Given the description of an element on the screen output the (x, y) to click on. 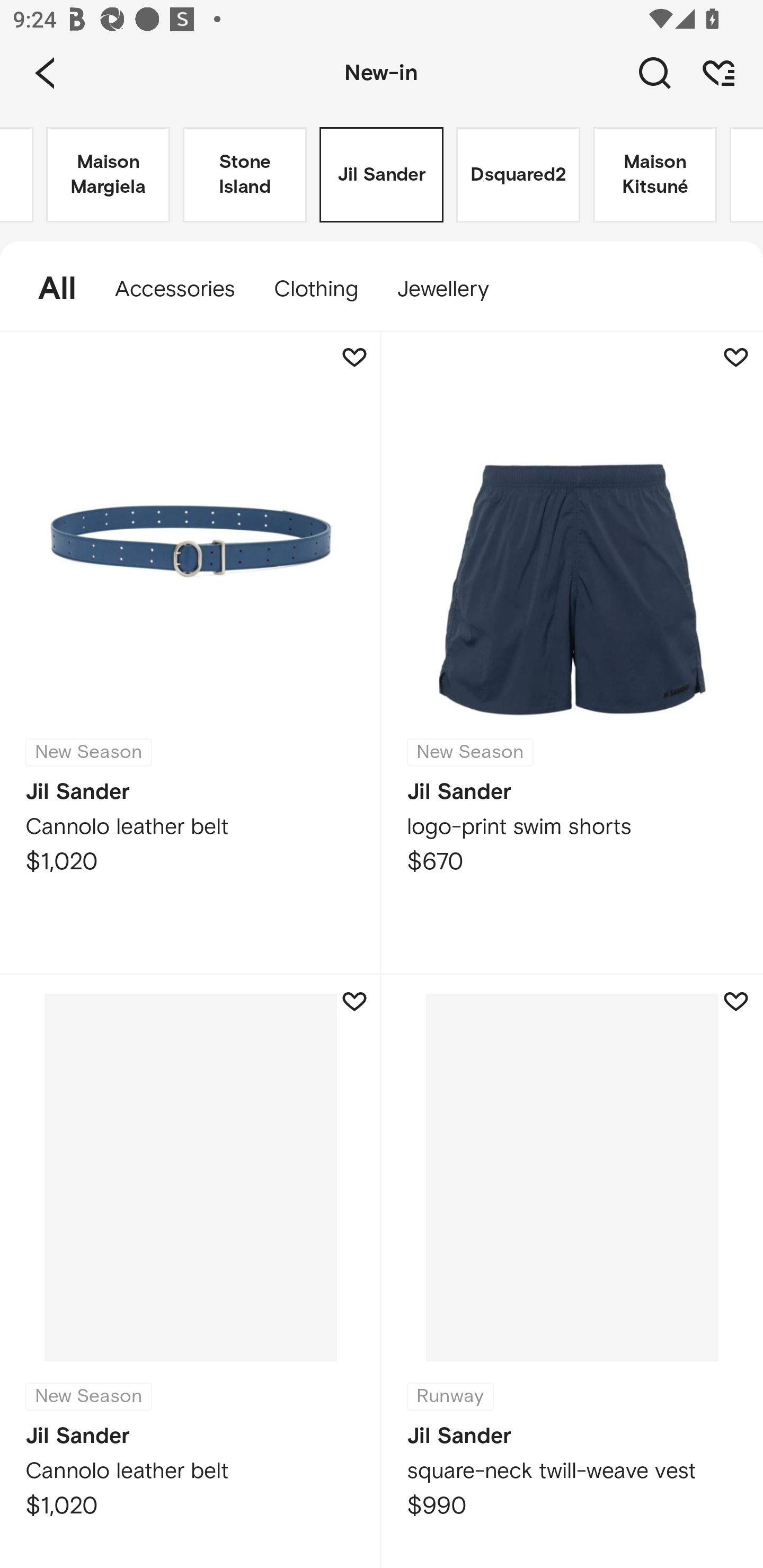
Maison Margiela (107, 174)
Stone Island (244, 174)
Jil Sander (381, 174)
Dsquared2 (517, 174)
Maison Kitsuné (654, 174)
All (47, 288)
Accessories (174, 288)
Clothing (315, 288)
Jewellery (451, 288)
New Season Jil Sander Cannolo leather belt $1,020 (190, 652)
New Season Jil Sander logo-print swim shorts $670 (572, 652)
New Season Jil Sander Cannolo leather belt $1,020 (190, 1271)
